Given the description of an element on the screen output the (x, y) to click on. 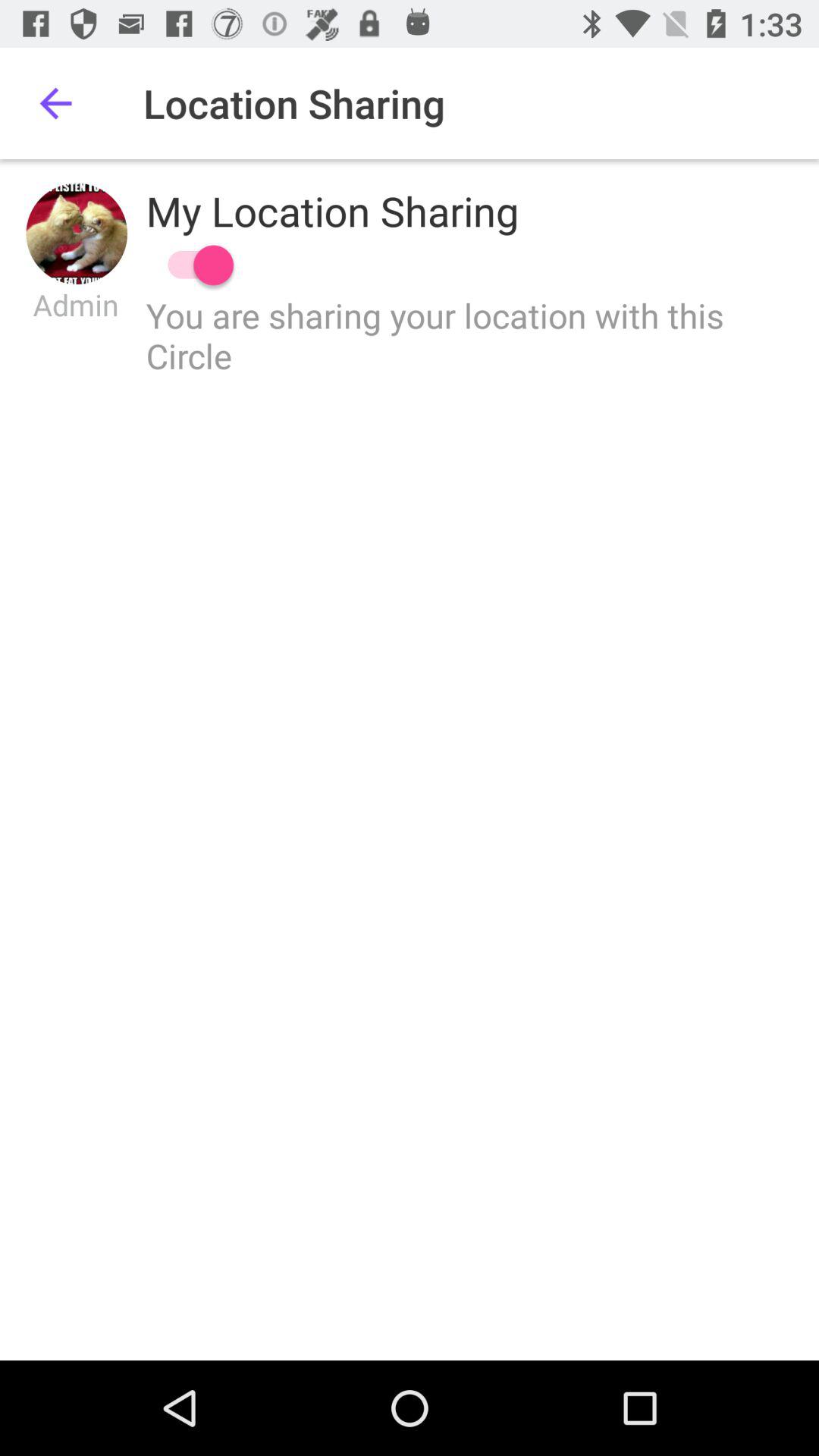
choose item to the left of the location sharing (55, 103)
